Given the description of an element on the screen output the (x, y) to click on. 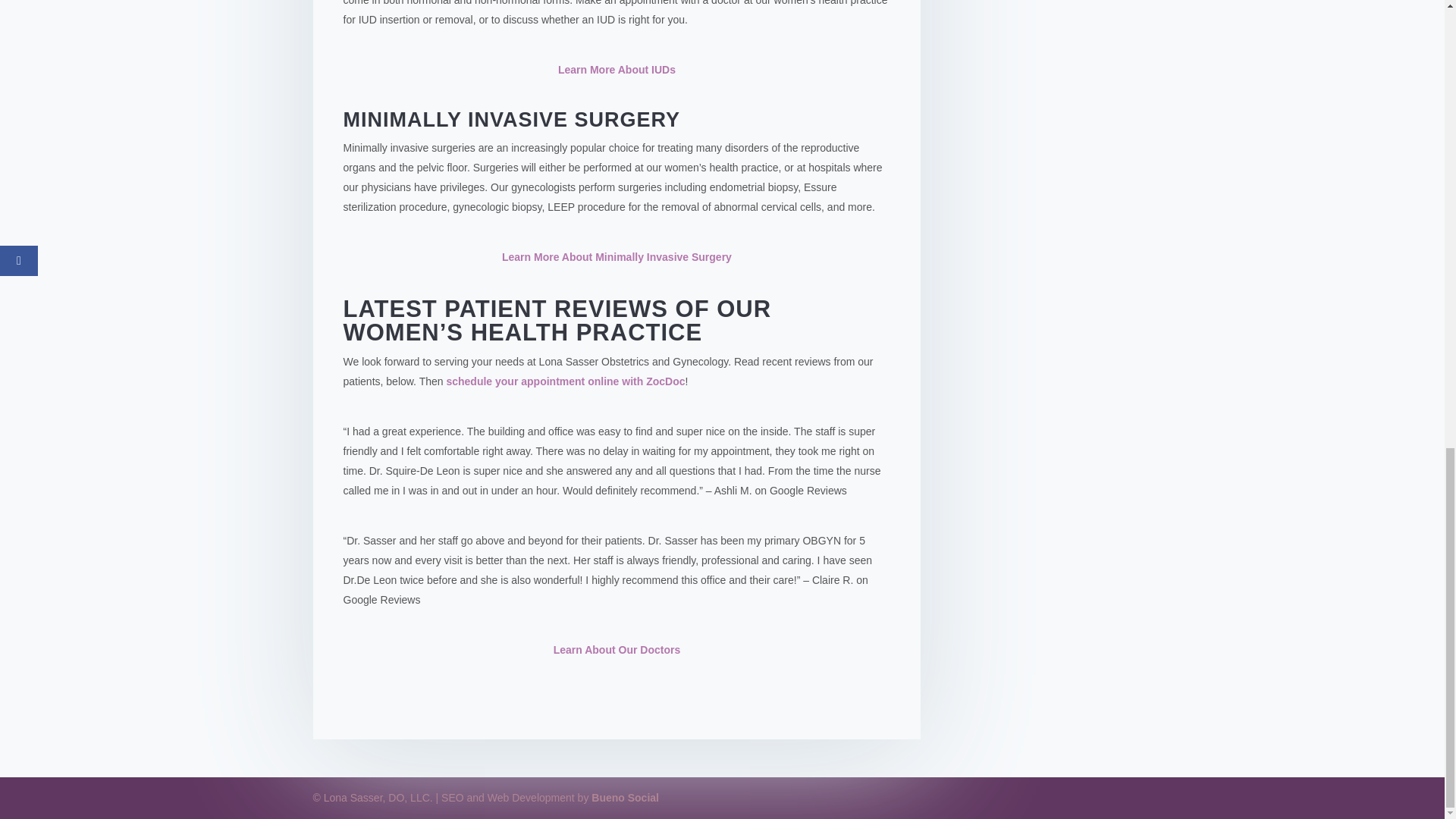
Bueno Social (625, 797)
Learn More About Minimally Invasive Surgery (617, 256)
Learn More About IUDs (616, 69)
Learn About Our Doctors (617, 649)
schedule your appointment online with ZocDoc (564, 381)
